Given the description of an element on the screen output the (x, y) to click on. 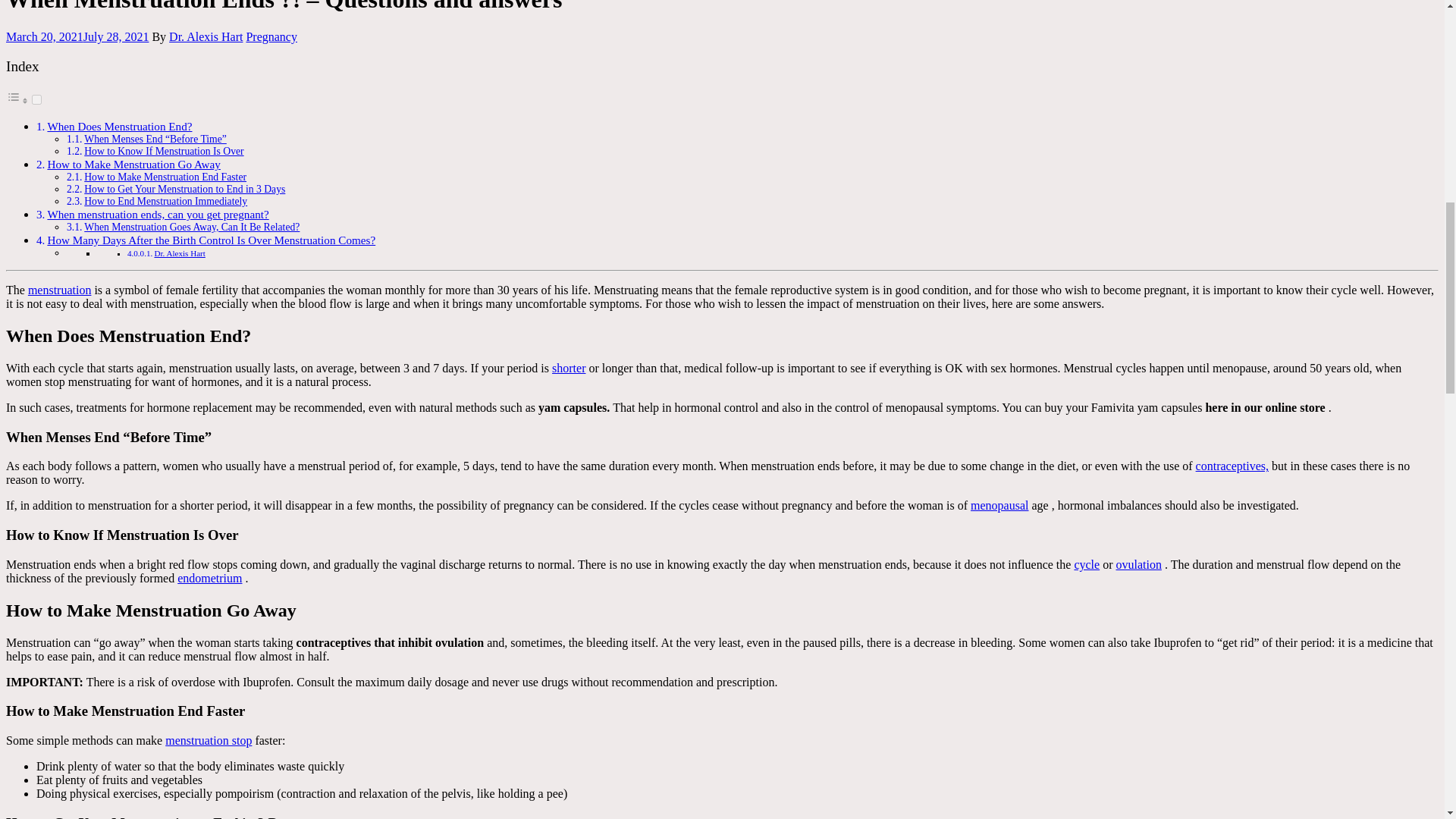
on (37, 99)
When Does Menstruation End? (119, 125)
How to Make Menstruation Go Away (133, 164)
When Menstruation Goes Away, Can It Be Related? (191, 226)
Dr. Alexis Hart (179, 252)
When menstruation ends, can you get pregnant? (156, 214)
How to Know If Menstruation Is Over (163, 151)
How to End Menstruation Immediately (165, 201)
How to Get Your Menstruation to End in 3 Days (184, 188)
